Given the description of an element on the screen output the (x, y) to click on. 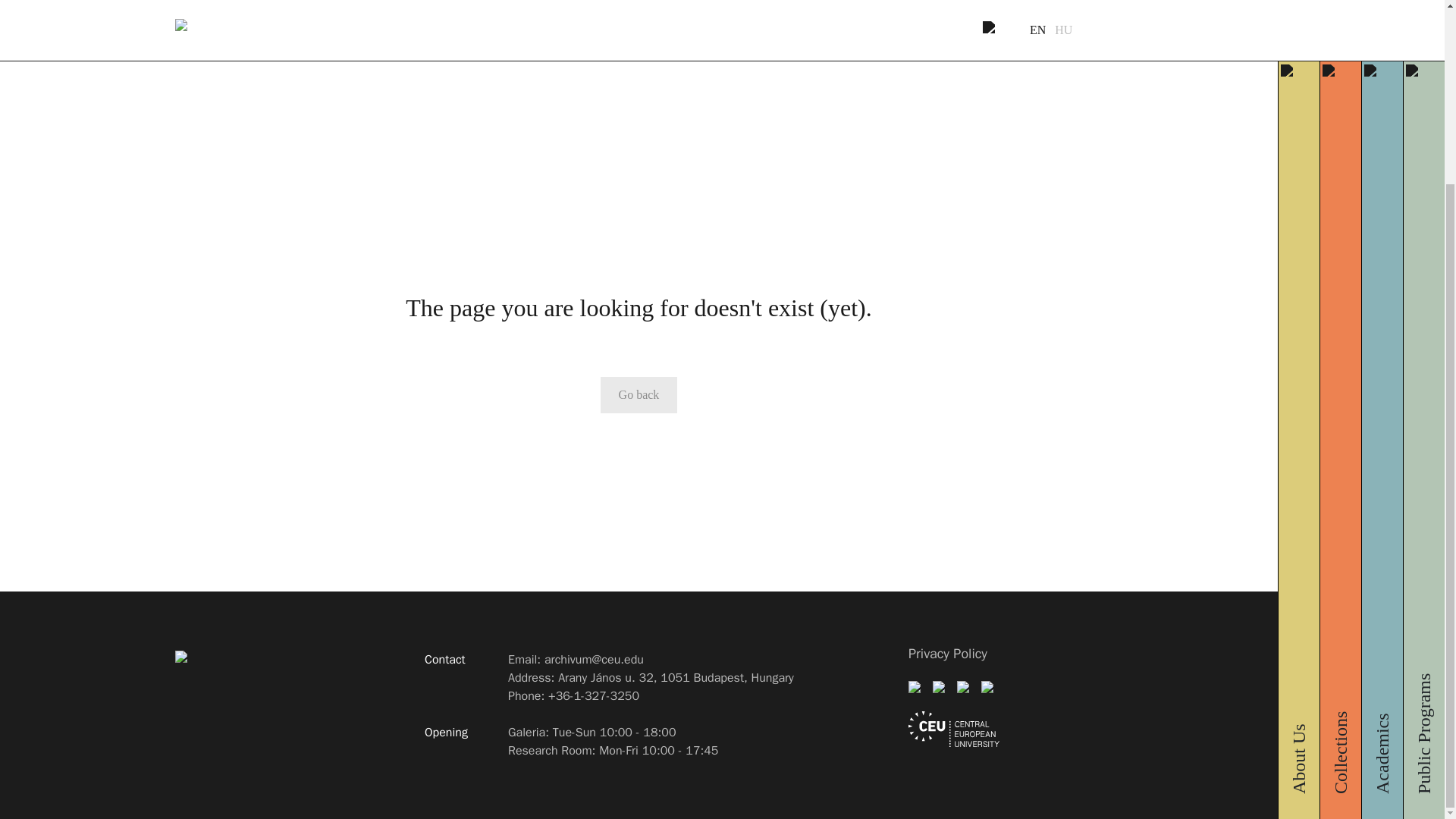
News (1393, 37)
Go back (638, 394)
Privacy Policy (947, 653)
